Given the description of an element on the screen output the (x, y) to click on. 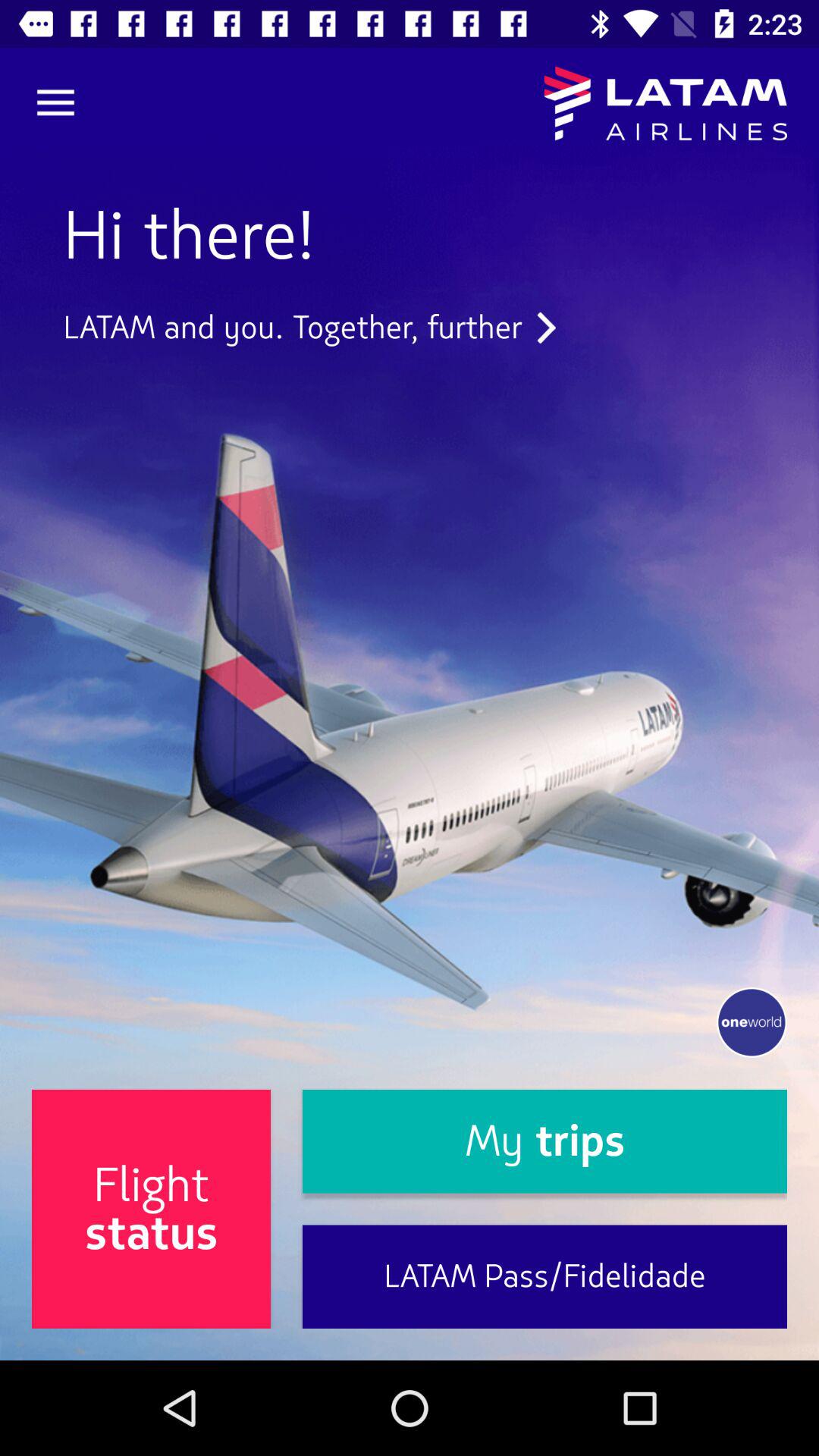
click the latam and you icon (309, 327)
